Given the description of an element on the screen output the (x, y) to click on. 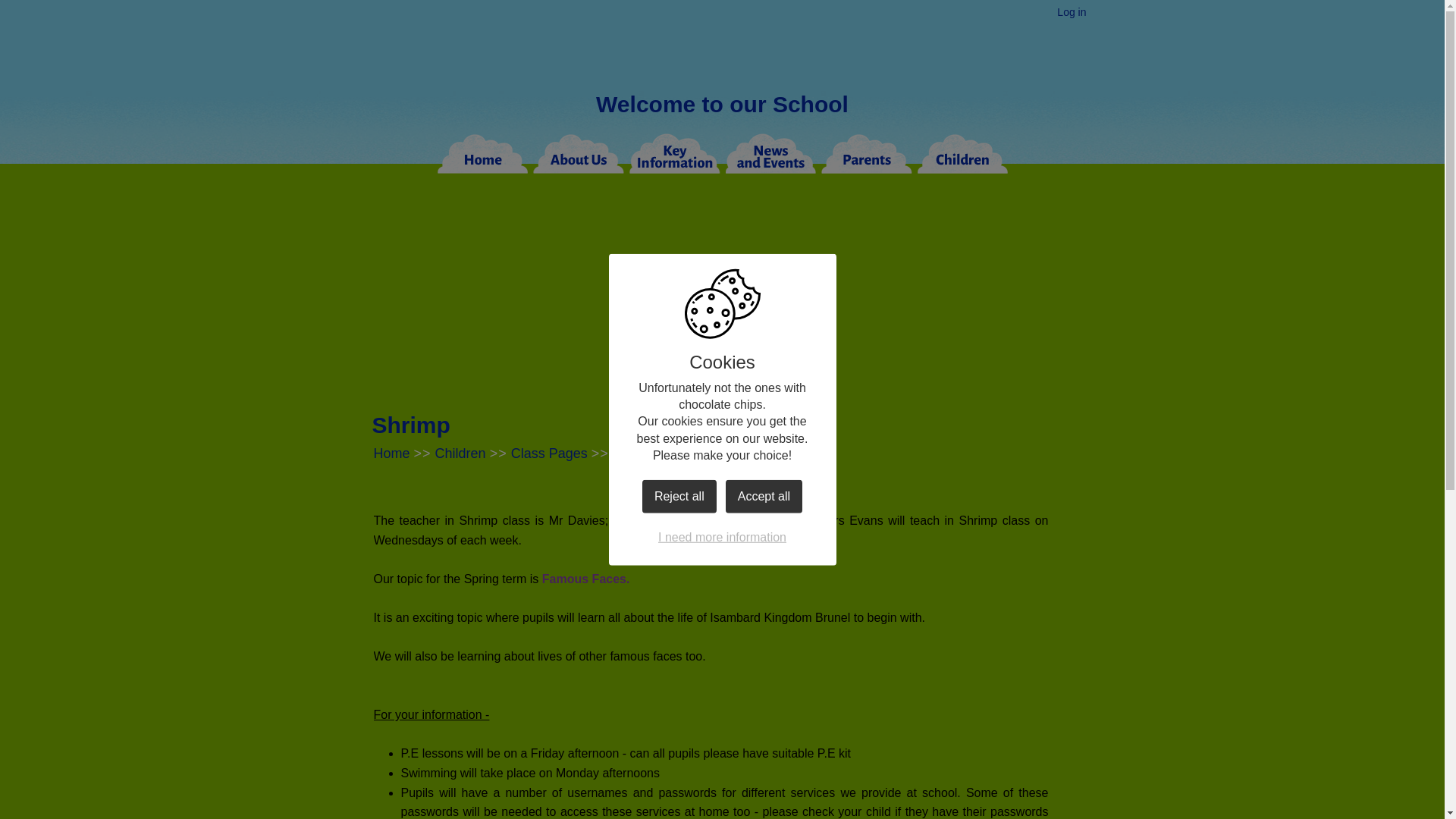
Home (390, 453)
Log in (1071, 12)
About Us (579, 153)
Key Information (675, 153)
Home Page (721, 46)
Class Pages (549, 453)
News and Events (770, 153)
Home Page (721, 46)
Parents (866, 153)
Home (484, 153)
Children (460, 453)
Shrimp (634, 453)
